Given the description of an element on the screen output the (x, y) to click on. 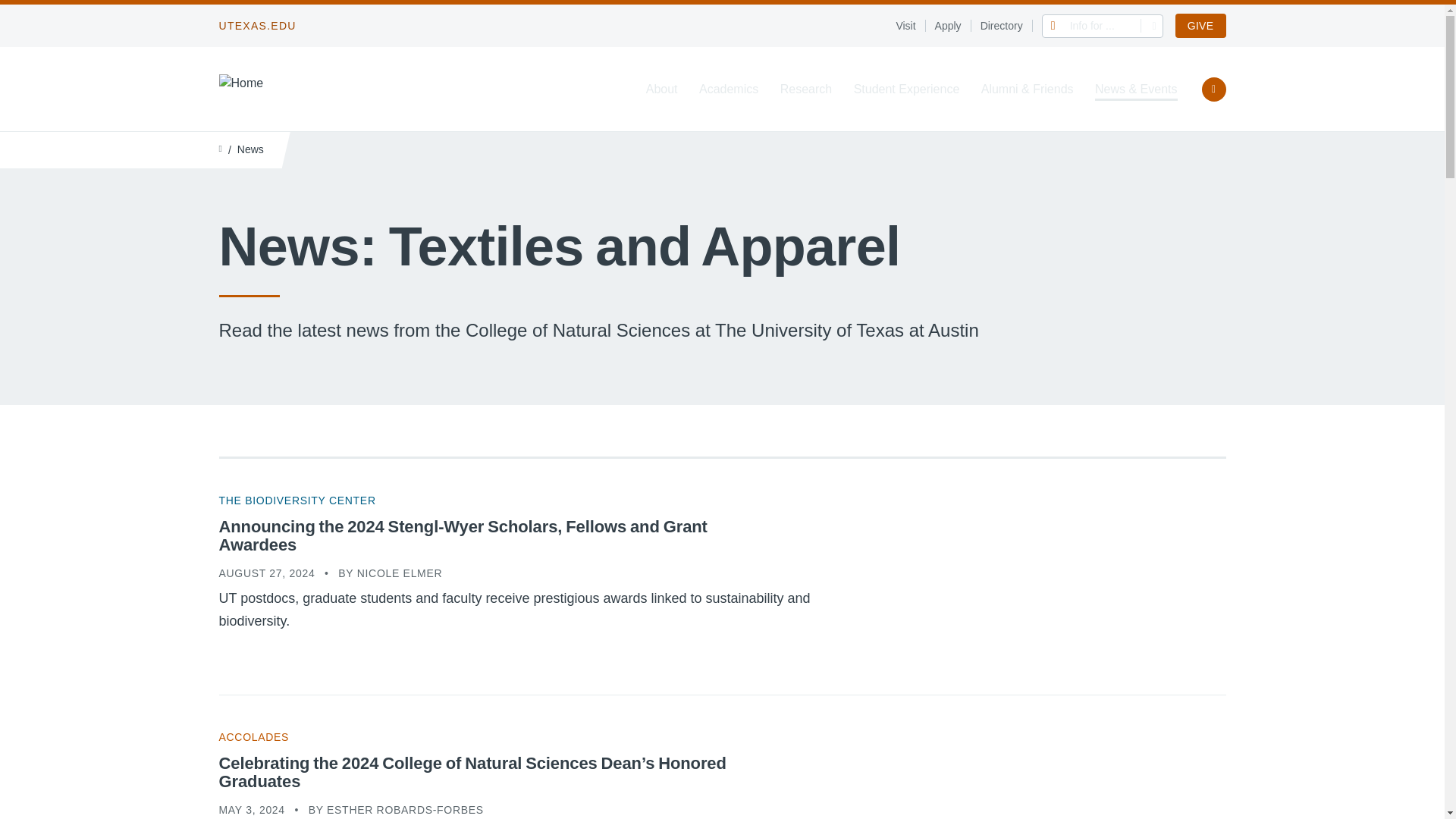
GIVE (1199, 25)
UTEXAS.EDU (256, 26)
Info for ... (1102, 24)
Apply (952, 25)
Visit (909, 25)
Student Experience (906, 90)
Academics (728, 90)
Directory (1005, 25)
About (662, 90)
Research (805, 90)
